Given the description of an element on the screen output the (x, y) to click on. 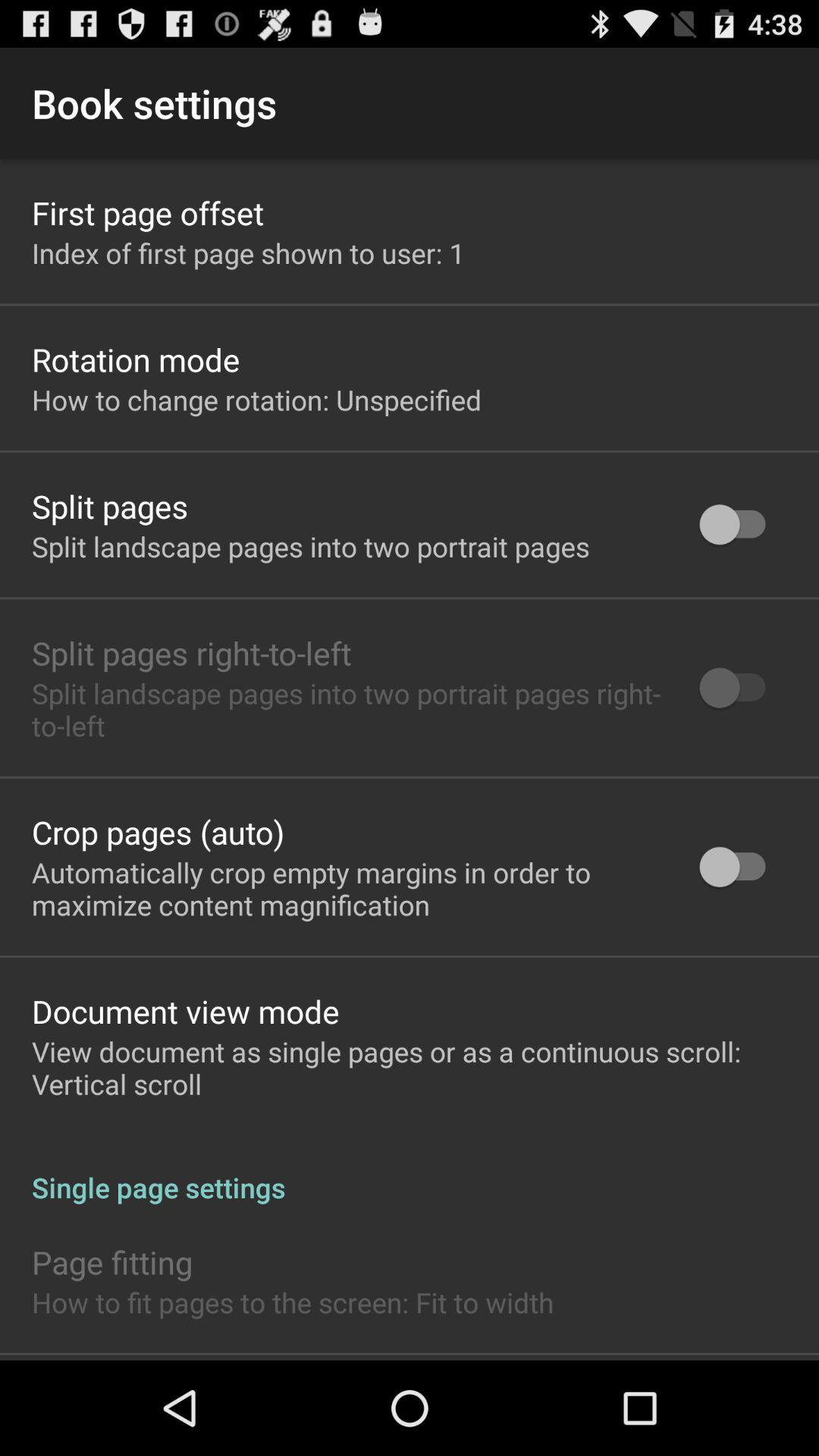
open single page settings icon (409, 1171)
